Given the description of an element on the screen output the (x, y) to click on. 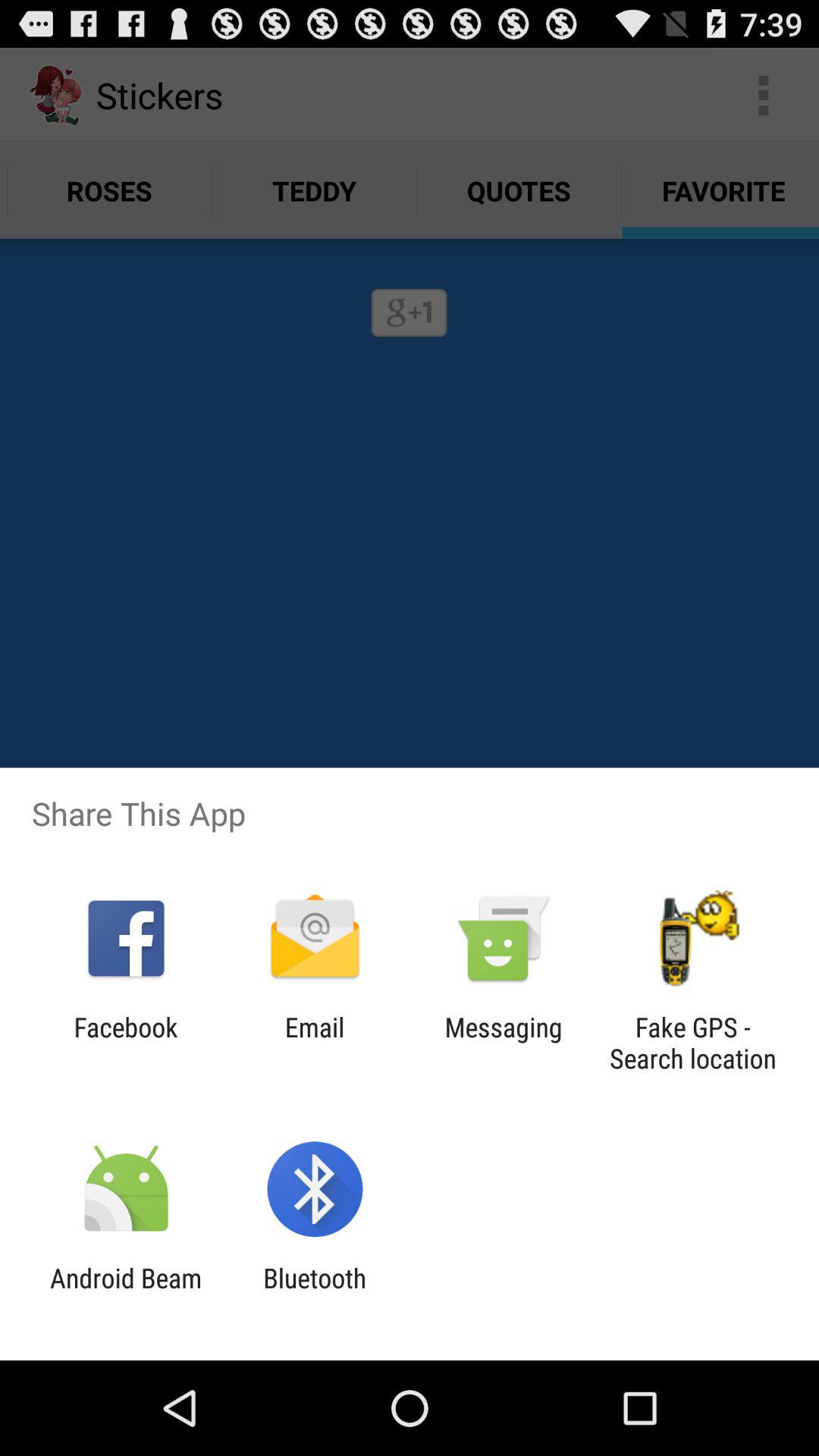
turn on the item to the right of android beam (314, 1293)
